Given the description of an element on the screen output the (x, y) to click on. 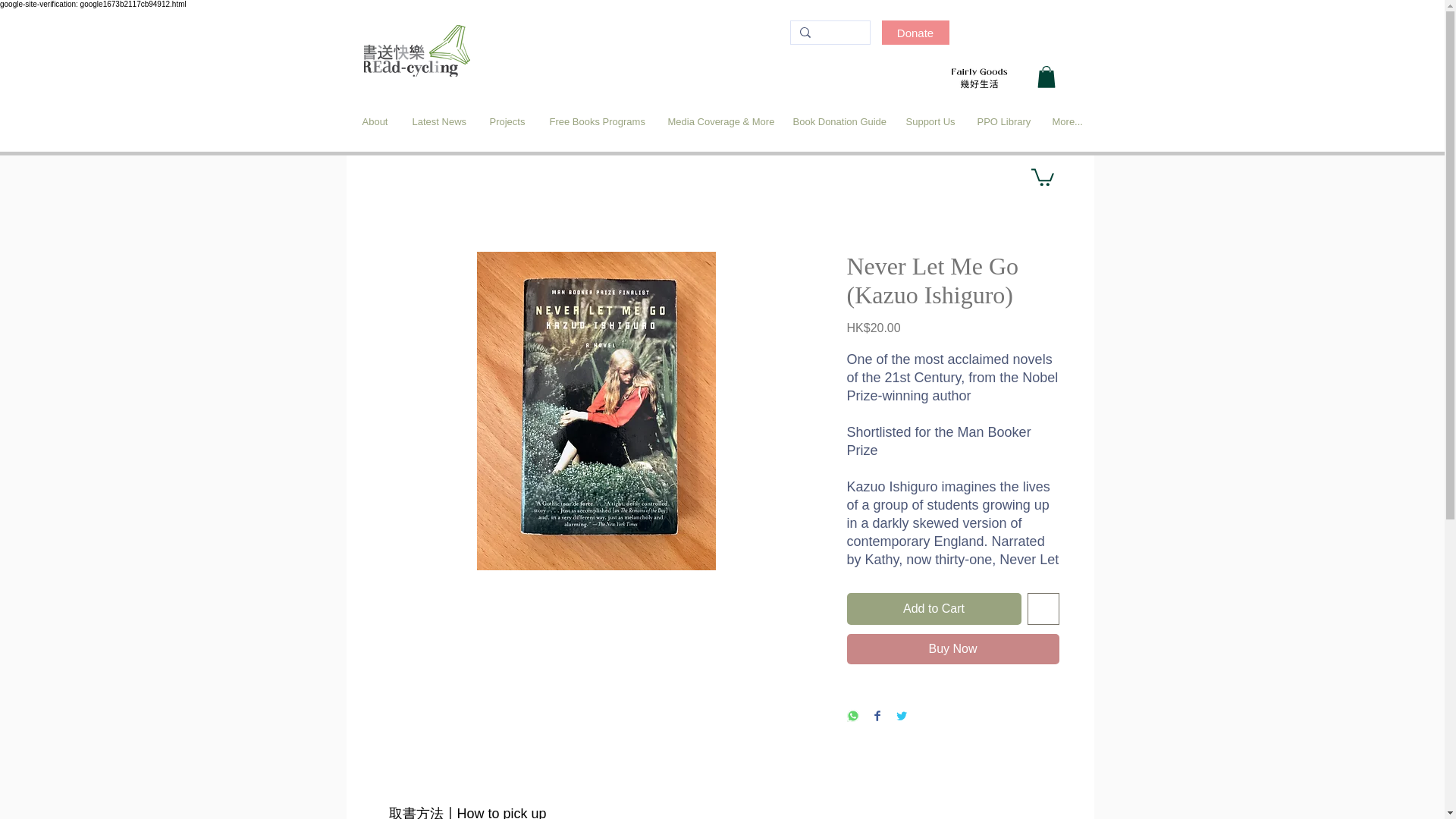
Use right and left arrows to navigate between tabs (466, 806)
PPO Library (1003, 121)
Add to Cart (932, 608)
Support Us (930, 121)
Book Donation Guide (836, 121)
Buy Now (951, 648)
Donate (914, 32)
Latest News (438, 121)
Free Books Programs (597, 121)
